Given the description of an element on the screen output the (x, y) to click on. 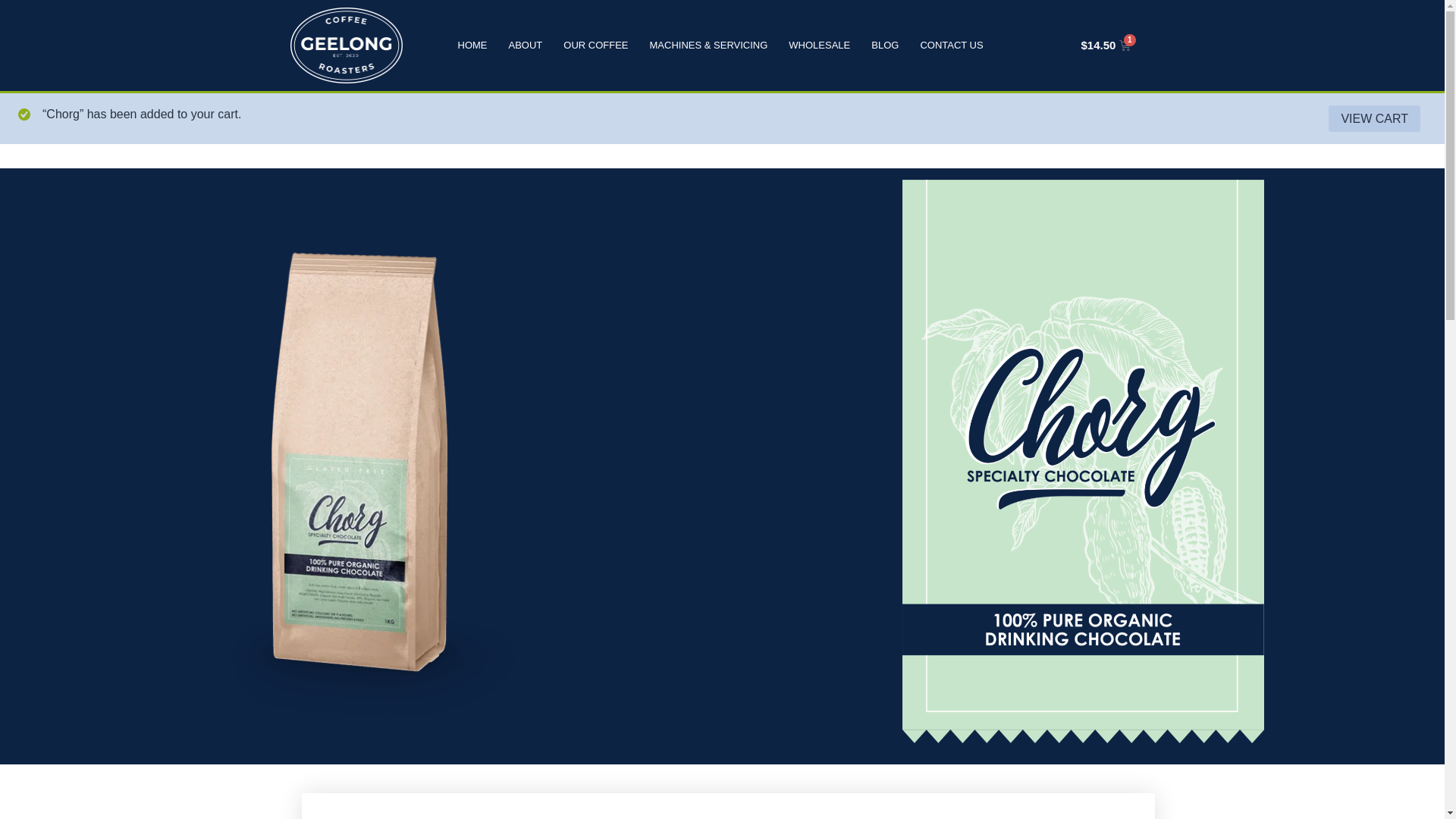
MACHINES & SERVICING Element type: text (708, 45)
OUR COFFEE Element type: text (595, 45)
BLOG Element type: text (884, 45)
WHOLESALE Element type: text (819, 45)
$14.50
1 Element type: text (1105, 44)
CONTACT US Element type: text (951, 45)
VIEW CART Element type: text (1374, 118)
HOME Element type: text (472, 45)
ABOUT Element type: text (524, 45)
